Given the description of an element on the screen output the (x, y) to click on. 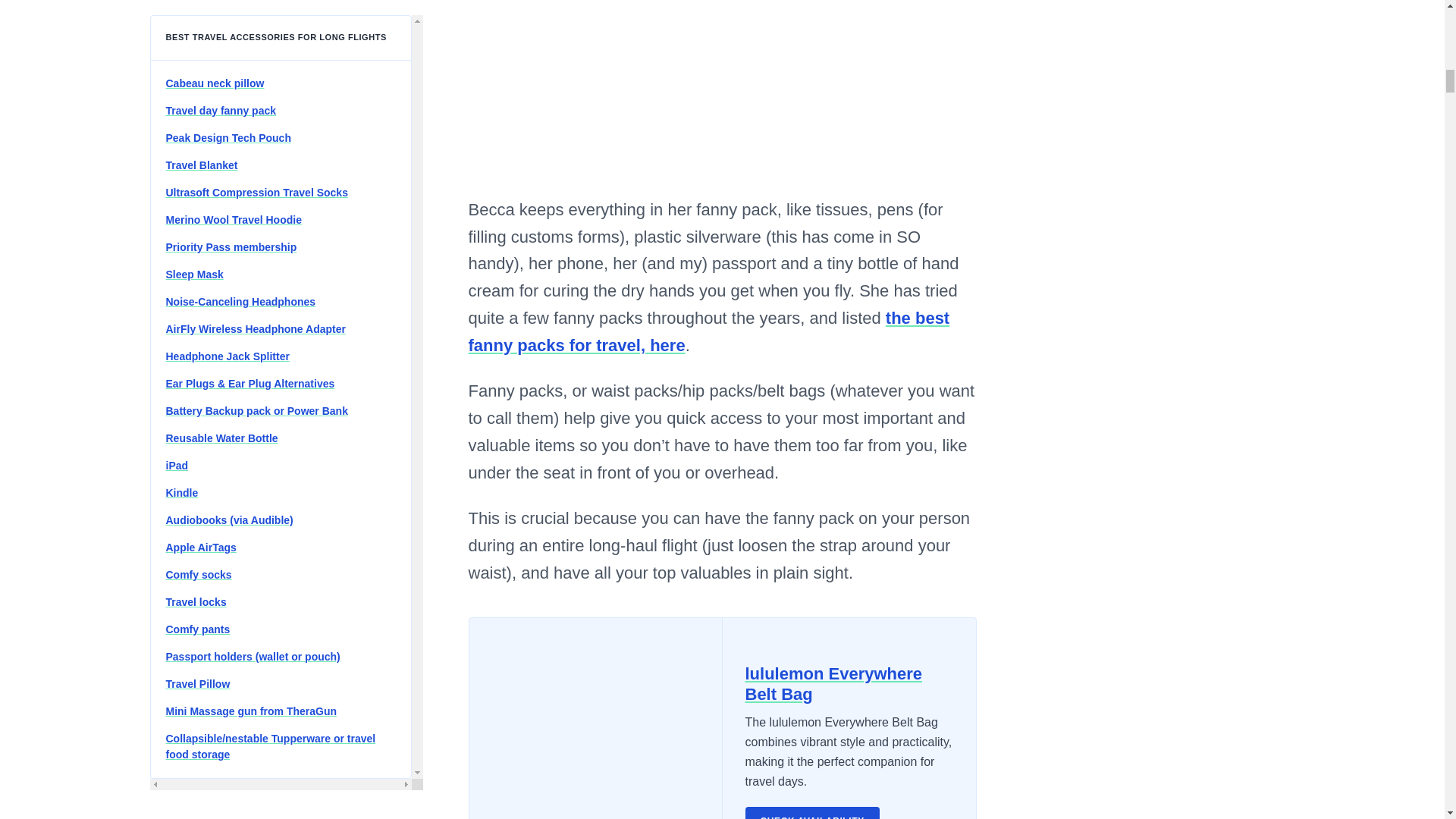
Affiliate Link (811, 812)
Affiliate Link (832, 684)
Affiliate Link (595, 718)
